Given the description of an element on the screen output the (x, y) to click on. 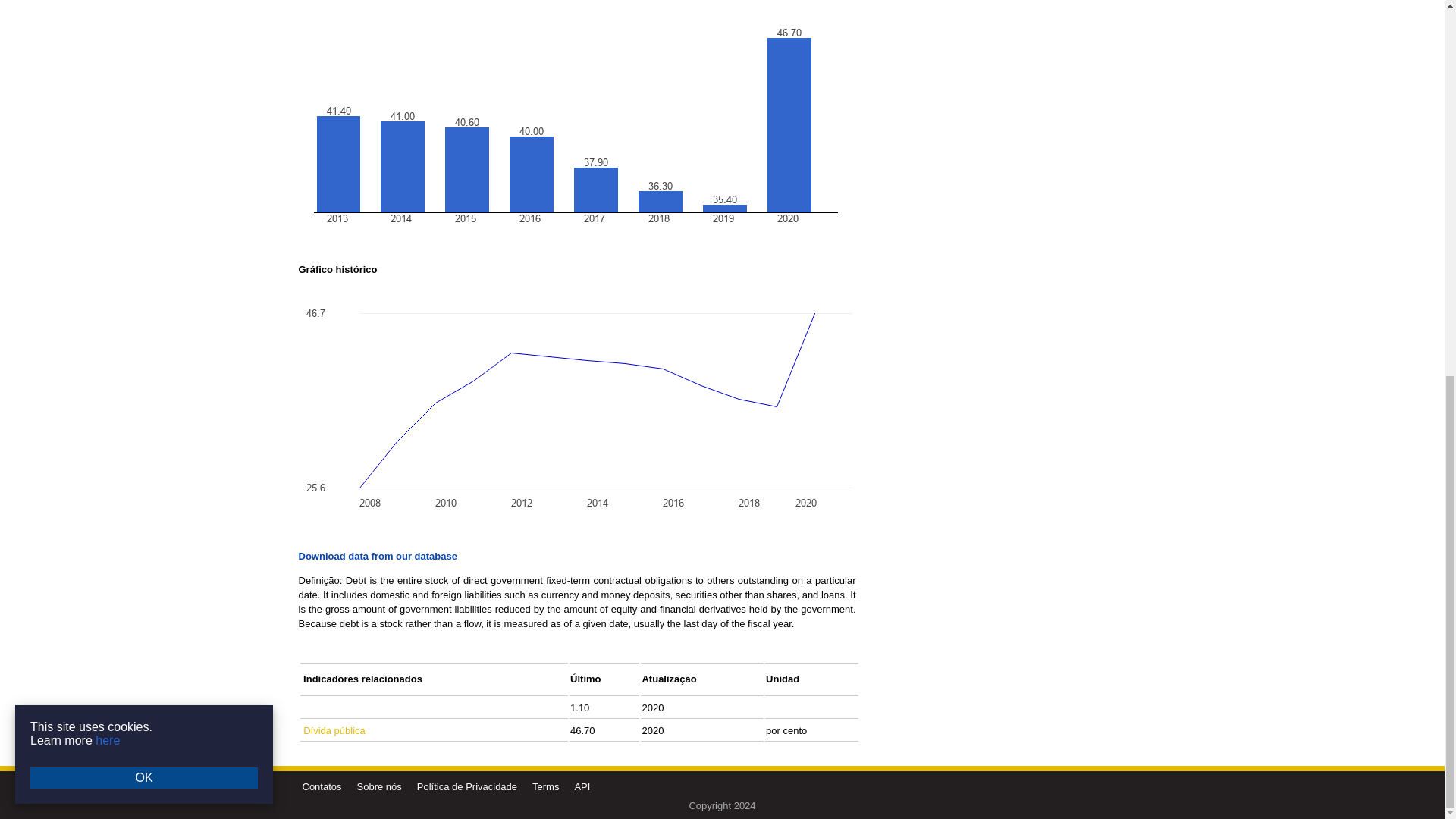
Contatos (320, 786)
Download data from our database (377, 555)
